Given the description of an element on the screen output the (x, y) to click on. 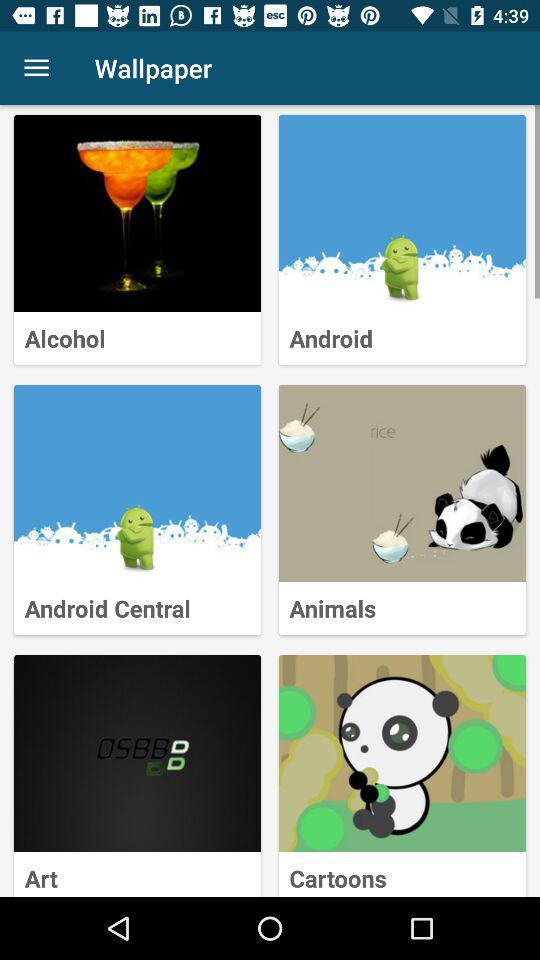
cartoon selection (402, 753)
